Given the description of an element on the screen output the (x, y) to click on. 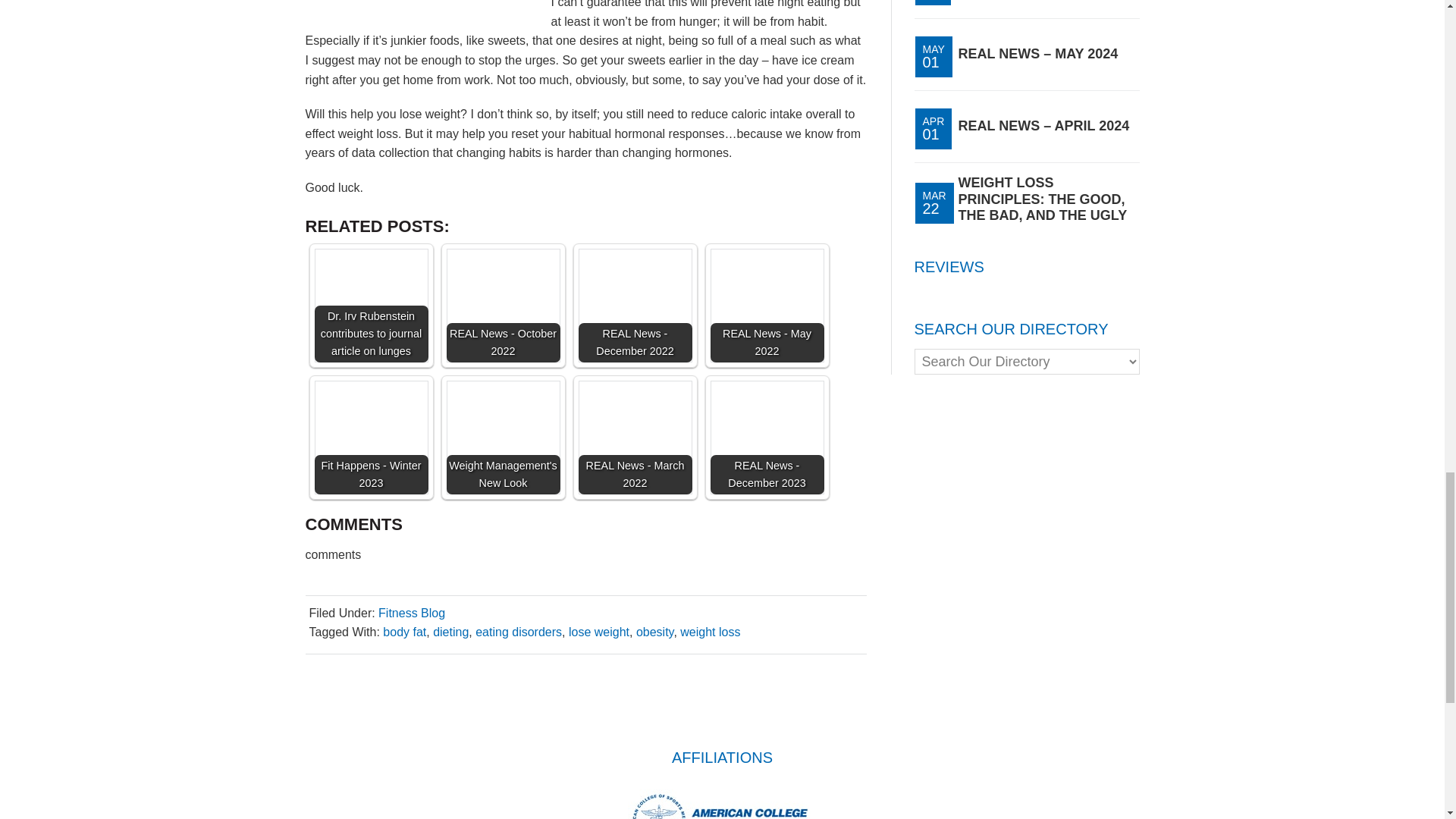
REAL News - December 2023 (767, 437)
Weight Loss Principles:  The Good, the Bad, and the Ugly (1042, 198)
Weight Management's New Look (502, 437)
REAL News - May 2022 (767, 305)
REAL News - December 2022 (634, 305)
REAL News - March 2022 (634, 437)
REAL News - October 2022 (502, 305)
Dr. Irv Rubenstein contributes to journal article on lunges (371, 305)
Fit Happens - Winter 2023 (371, 437)
